Given the description of an element on the screen output the (x, y) to click on. 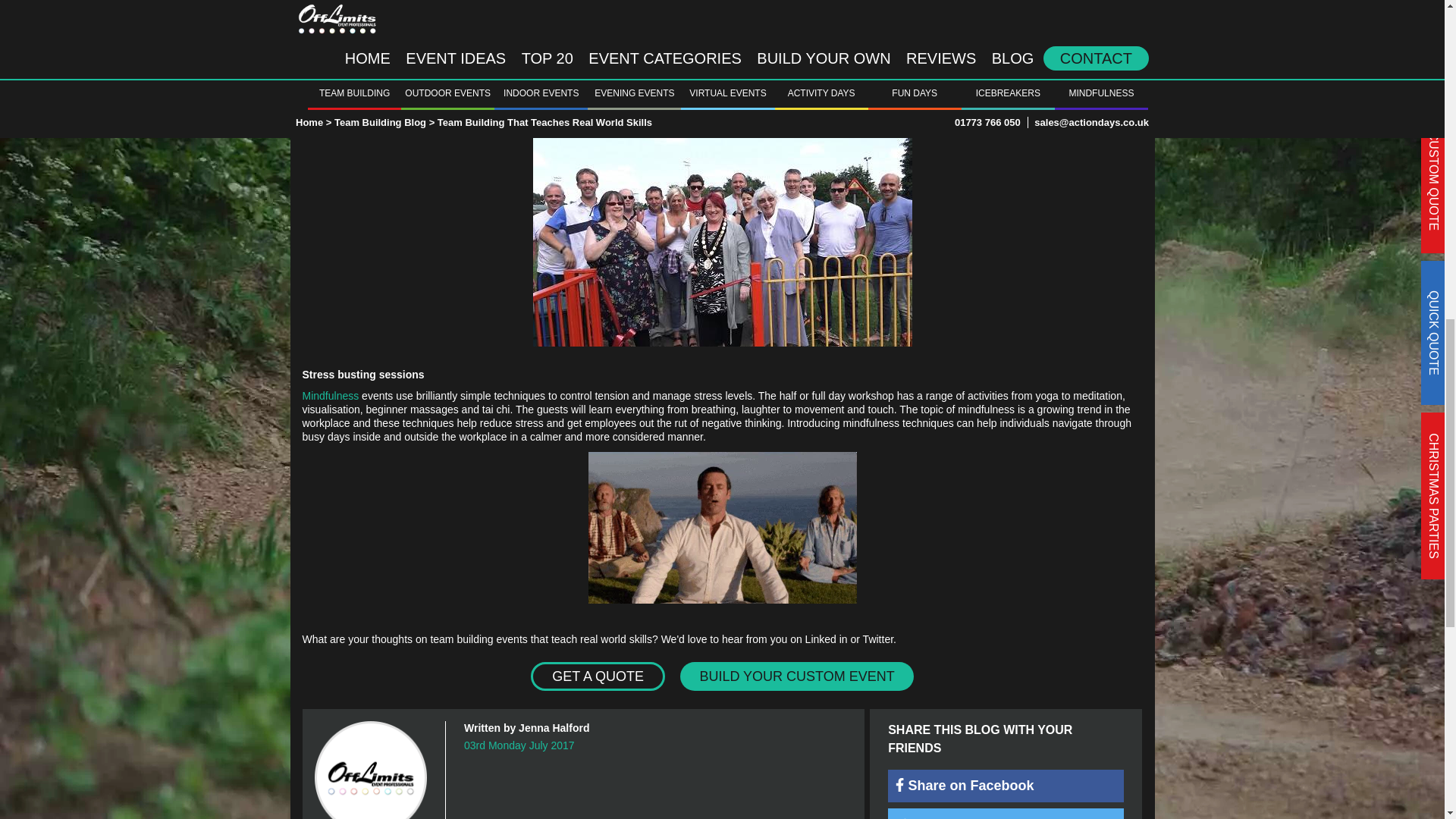
Changing Rooms (937, 90)
Share on Facebook (1006, 785)
Tweet (1006, 813)
Bake Off (622, 1)
Cup Cake Decorating (527, 1)
Mindfulness (329, 395)
Balanced Bites (1091, 1)
Olympic Nutrition Challenge (853, 20)
